Given the description of an element on the screen output the (x, y) to click on. 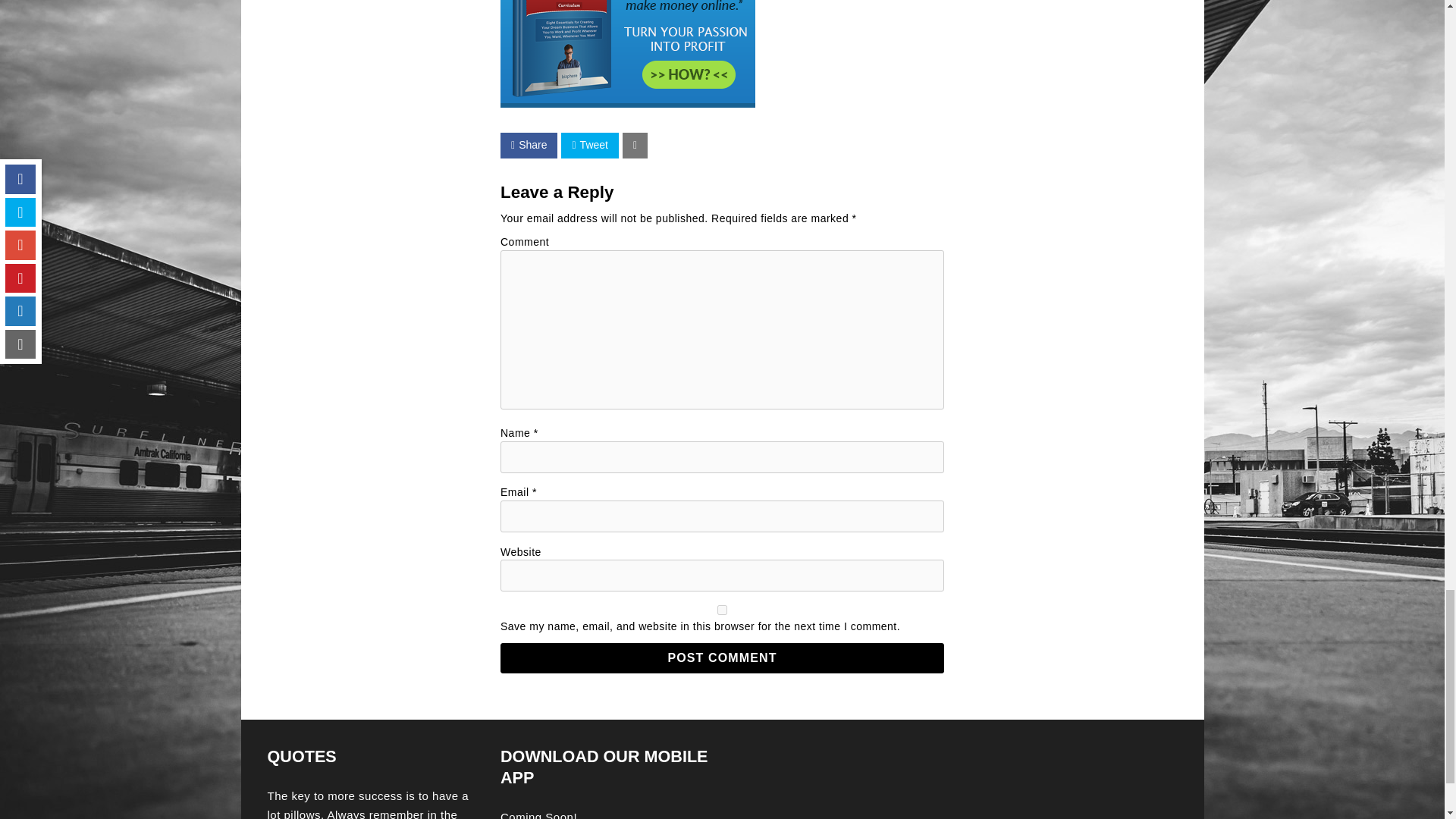
Tweet (588, 145)
How to Start an Online Business (627, 53)
Share On Facebook (528, 145)
How to Start an Online Business (627, 102)
yes (721, 610)
Post Comment (721, 657)
Share (528, 145)
Post Comment (721, 657)
Tweet on Twitter (588, 145)
